Given the description of an element on the screen output the (x, y) to click on. 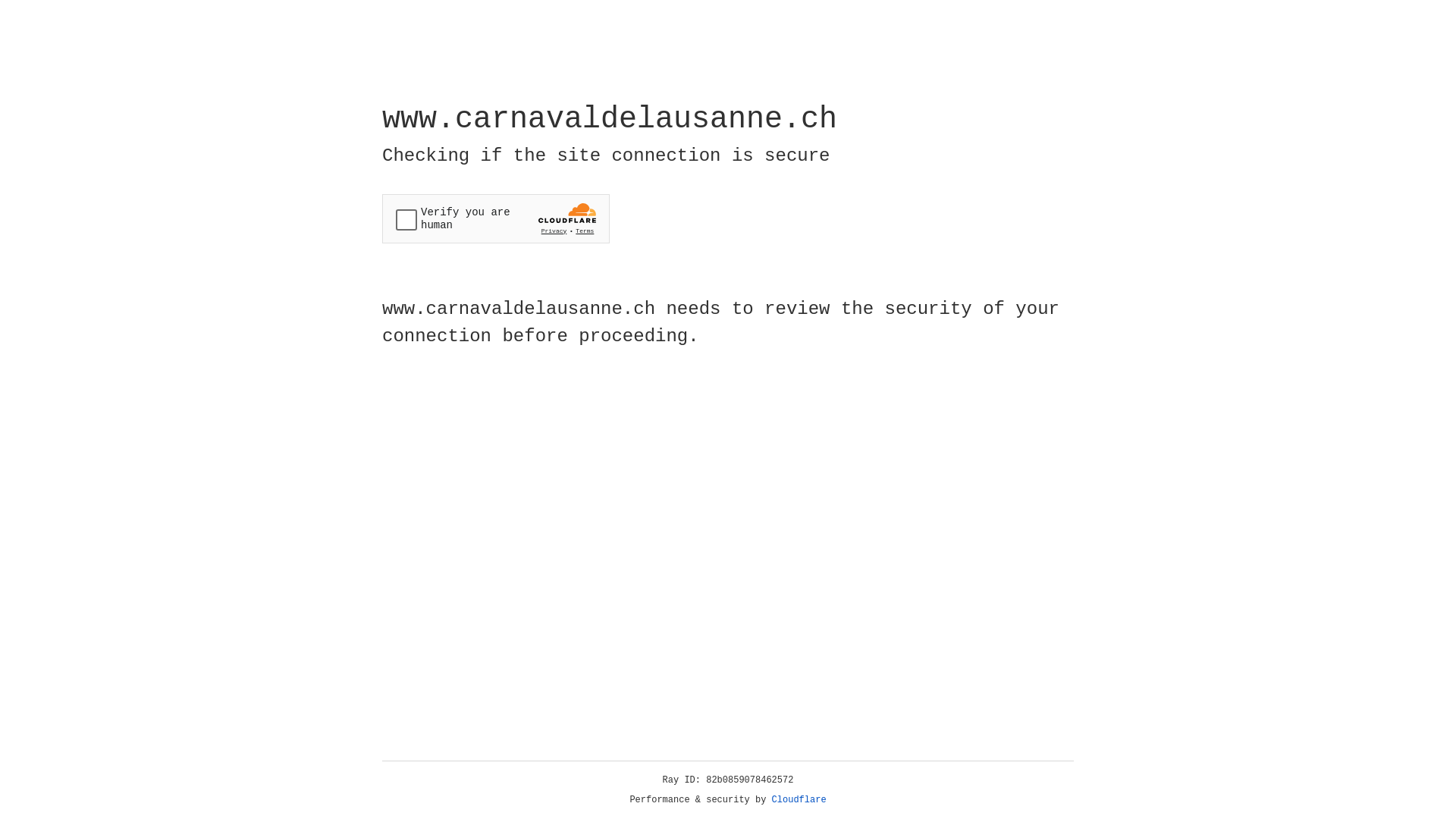
Widget containing a Cloudflare security challenge Element type: hover (495, 218)
Cloudflare Element type: text (798, 799)
